Given the description of an element on the screen output the (x, y) to click on. 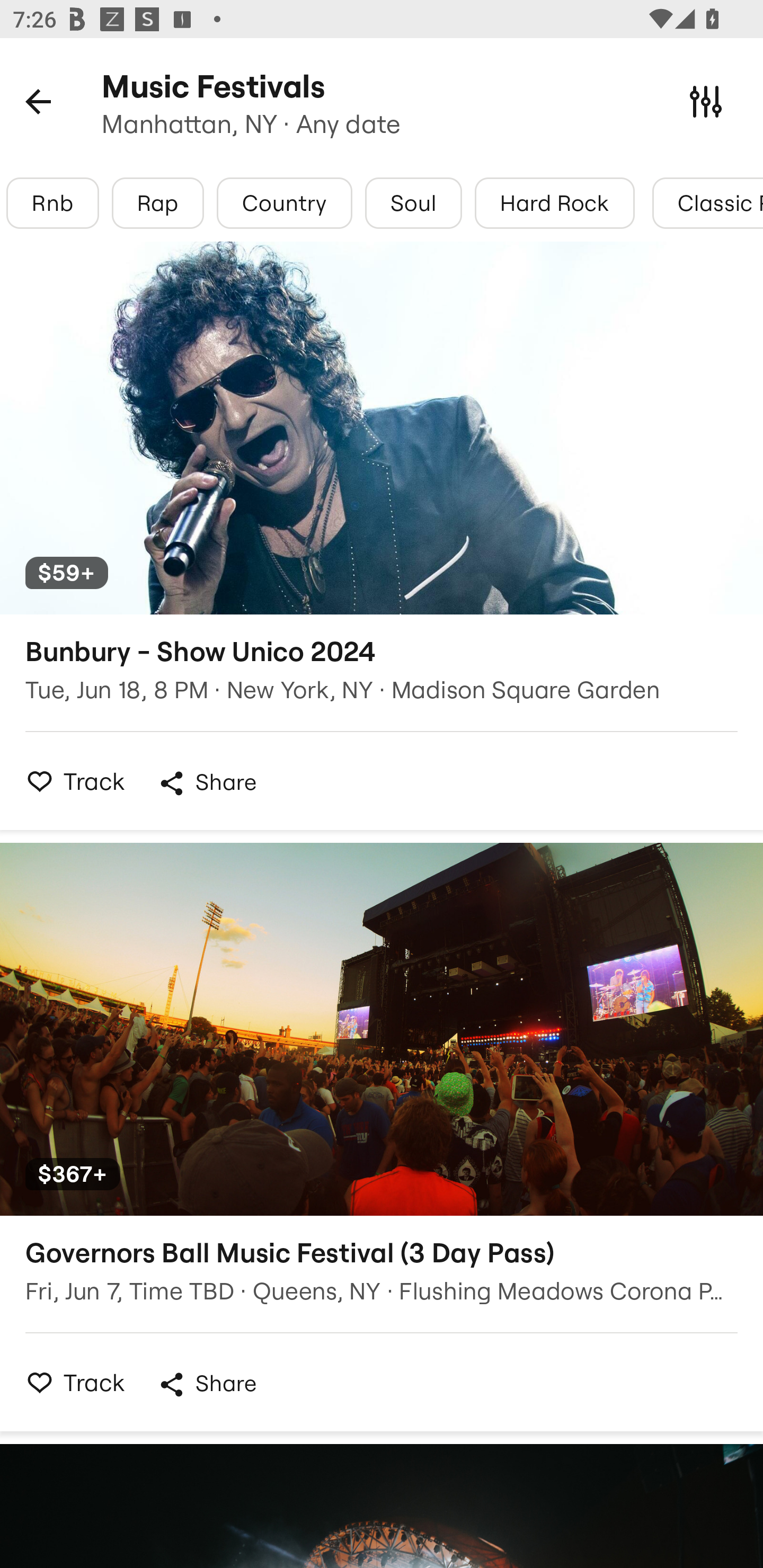
Back (38, 100)
Filters (705, 100)
Rnb (52, 202)
Rap (157, 202)
Country (284, 202)
Soul (413, 202)
Hard Rock (554, 202)
Track (70, 780)
Share (207, 783)
Track (70, 1381)
Share (207, 1384)
